Given the description of an element on the screen output the (x, y) to click on. 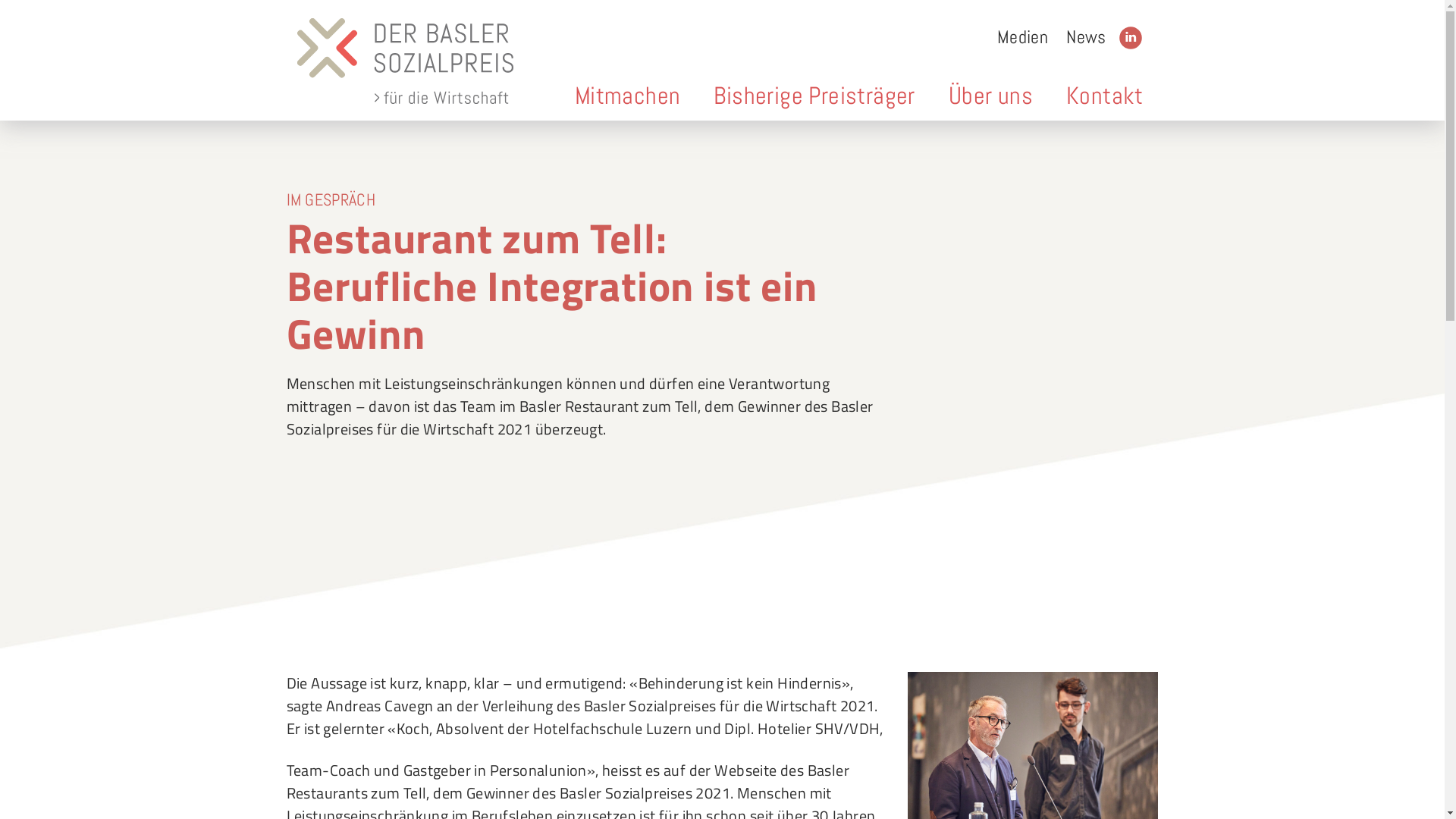
Mitmachen Element type: text (627, 95)
News Element type: text (1086, 36)
Kontakt Element type: text (1104, 95)
Medien Element type: text (1022, 36)
